Given the description of an element on the screen output the (x, y) to click on. 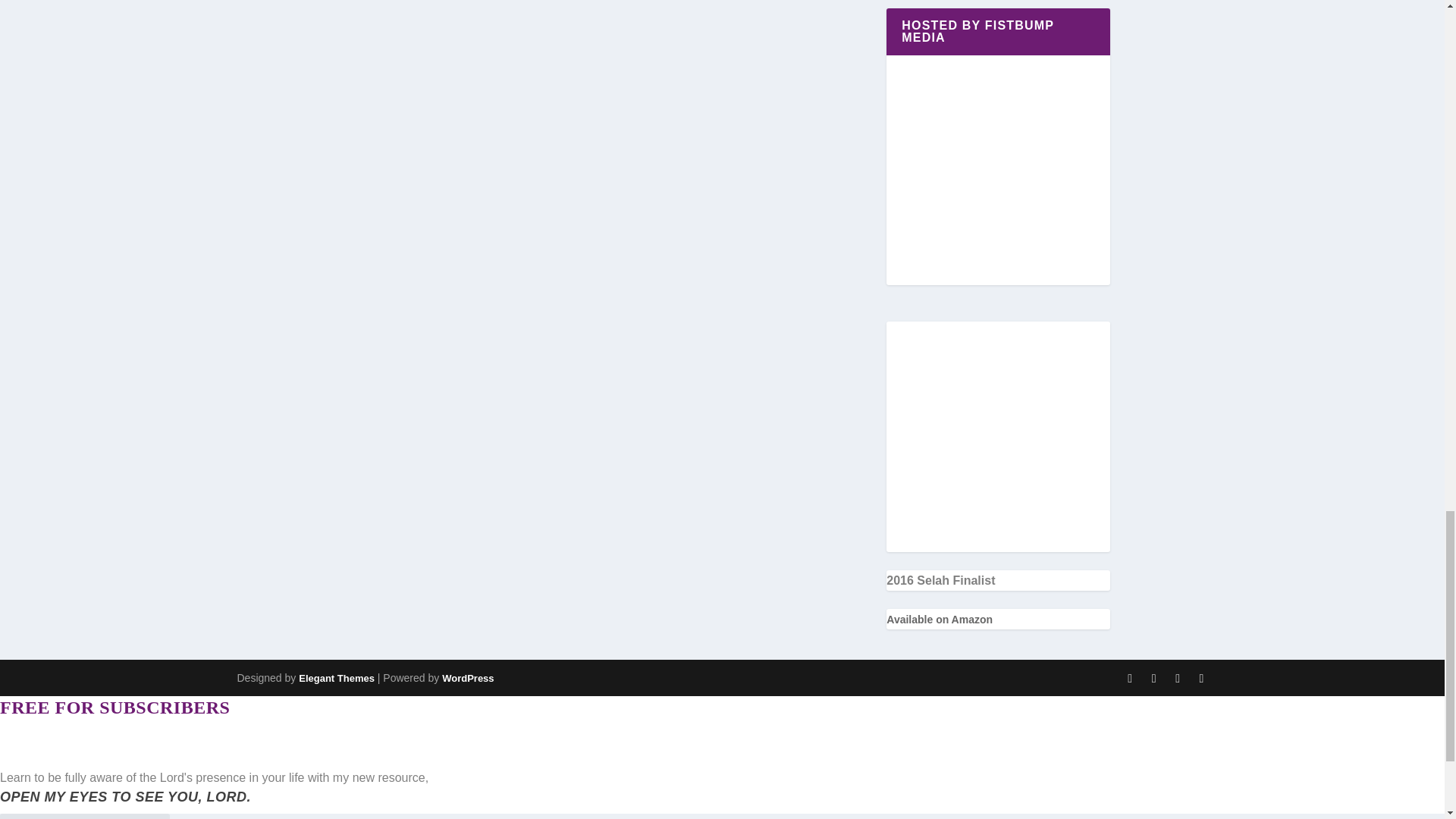
WordPress (467, 677)
Available on Amazon (939, 619)
Elegant Themes (336, 677)
Premium WordPress Themes (336, 677)
